Given the description of an element on the screen output the (x, y) to click on. 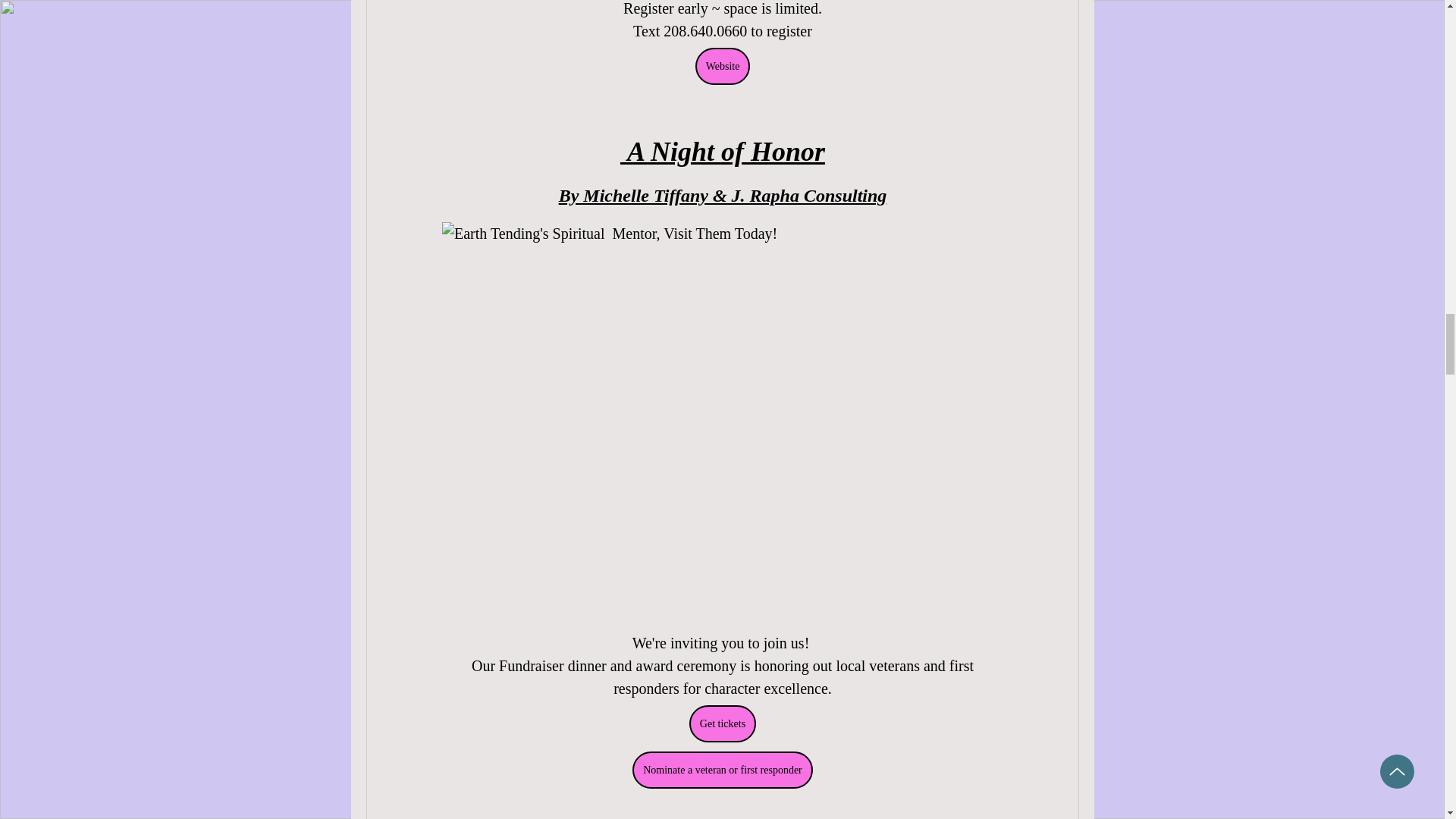
Get tickets (721, 723)
Website (721, 66)
Nominate a veteran or first responder (721, 769)
